Given the description of an element on the screen output the (x, y) to click on. 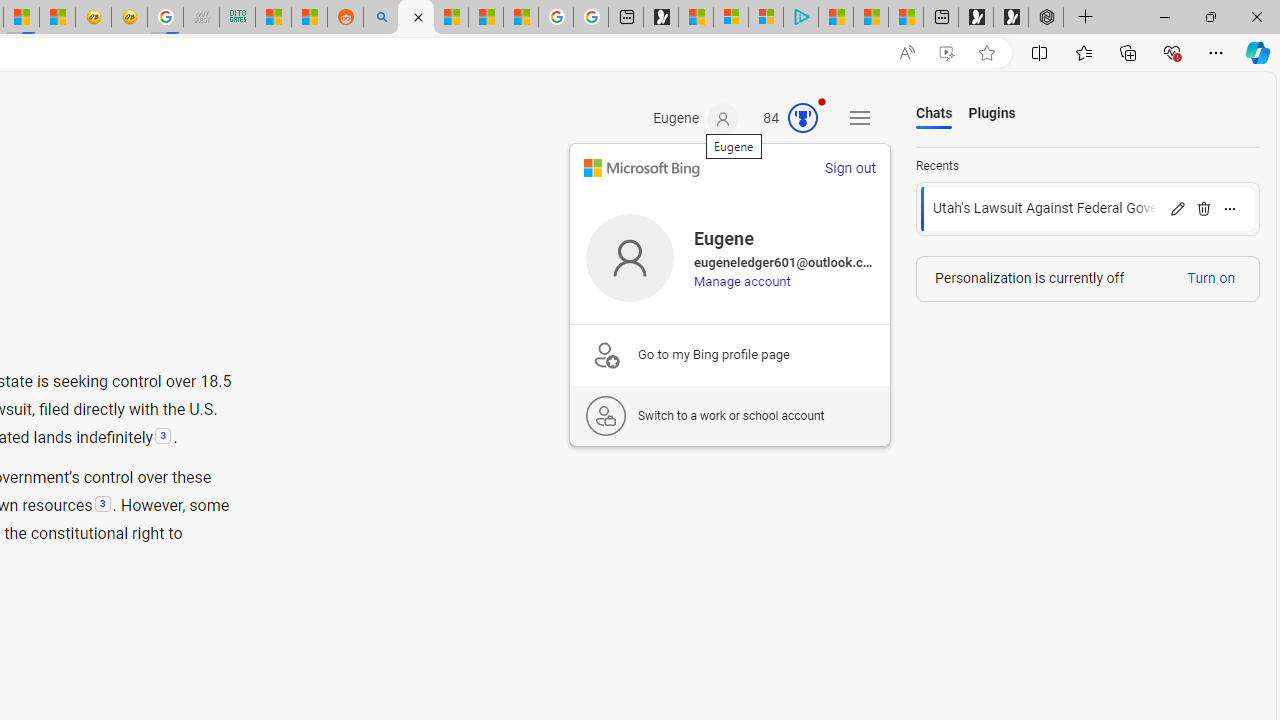
These 3 Stocks Pay You More Than 5% to Own Them (905, 17)
AutomationID: serp_medal_svg (803, 117)
work signin Switch to a work or school account (729, 415)
Manage account (742, 281)
microsoft logo (641, 168)
Microsoft Copilot in Bing (415, 17)
